Given the description of an element on the screen output the (x, y) to click on. 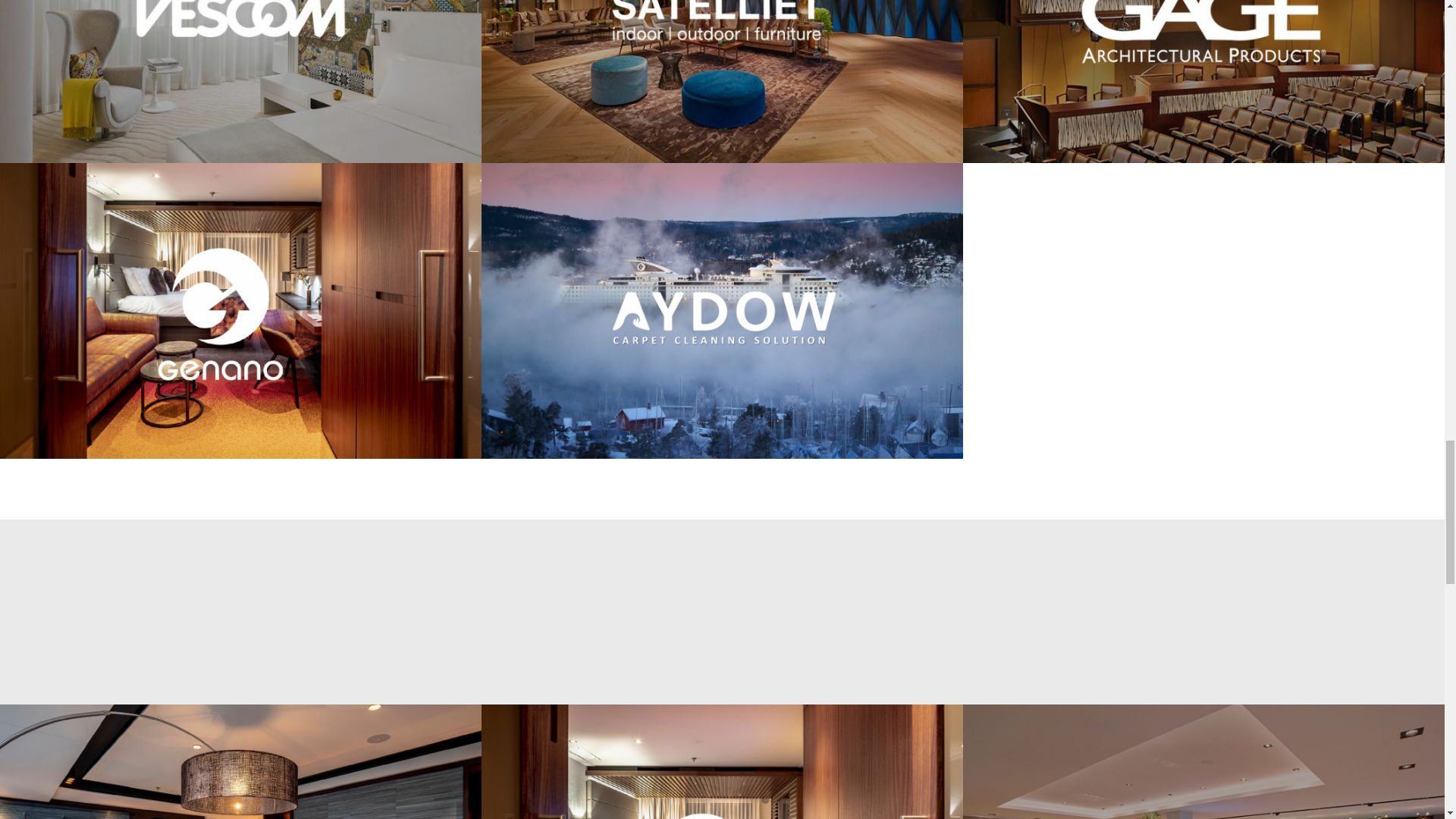
Aydow at CSIE 2020 MIAMI (240, 761)
GENANO (721, 761)
sateliet (721, 81)
vescom (240, 81)
